Given the description of an element on the screen output the (x, y) to click on. 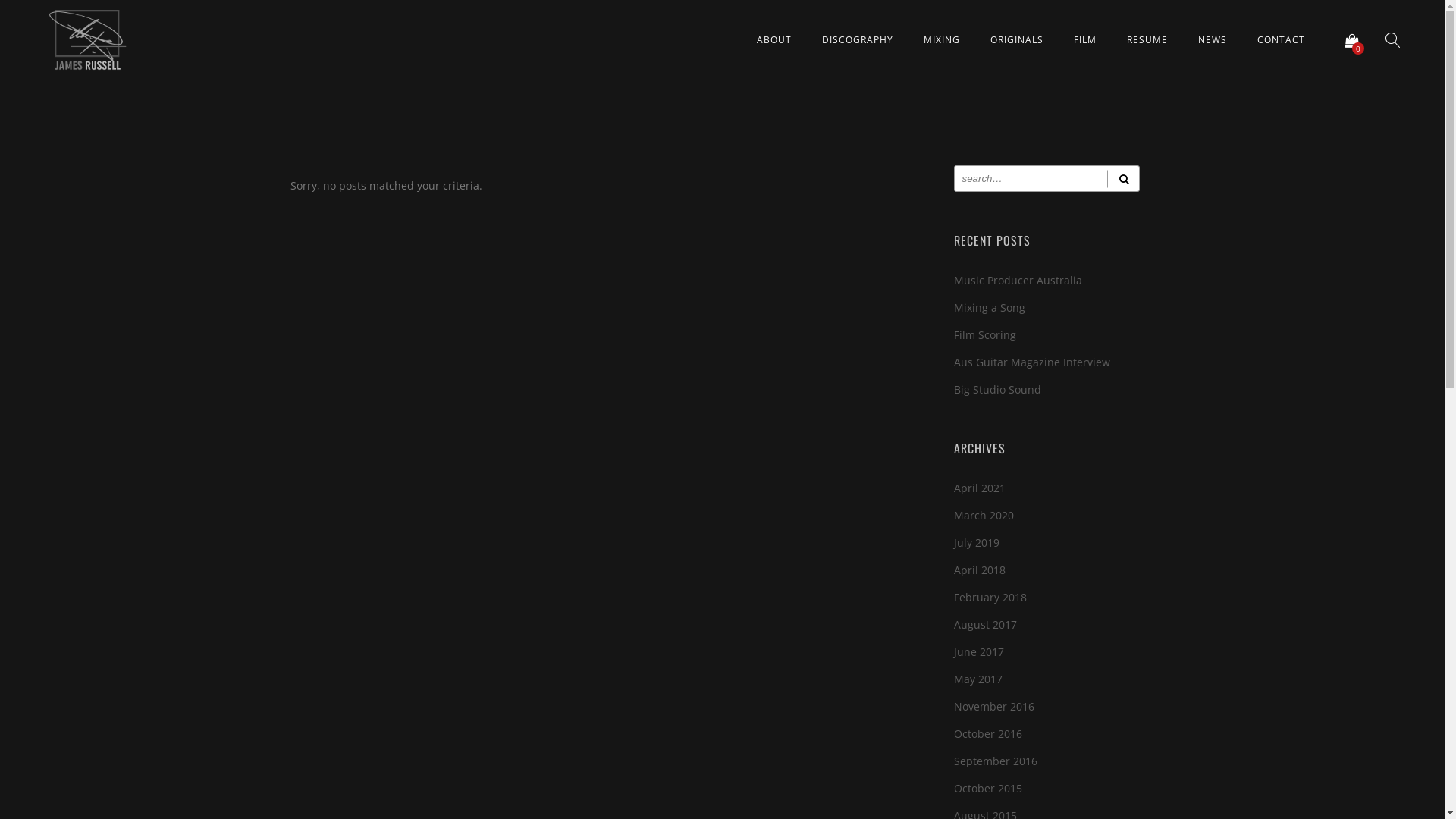
NEWS Element type: text (1212, 39)
ORIGINALS Element type: text (1016, 39)
RESUME Element type: text (1147, 39)
September 2016 Element type: text (995, 760)
MIXING Element type: text (941, 39)
Music Producer Australia Element type: text (1017, 280)
April 2021 Element type: text (979, 487)
CONTACT Element type: text (1280, 39)
ABOUT Element type: text (774, 39)
June 2017 Element type: text (978, 651)
Search Element type: hover (1123, 178)
July 2019 Element type: text (976, 542)
Aus Guitar Magazine Interview Element type: text (1031, 361)
February 2018 Element type: text (989, 596)
DISCOGRAPHY Element type: text (857, 39)
October 2015 Element type: text (987, 788)
November 2016 Element type: text (993, 706)
October 2016 Element type: text (987, 733)
FILM Element type: text (1085, 39)
April 2018 Element type: text (979, 569)
March 2020 Element type: text (983, 515)
0 Element type: text (1351, 40)
Film Scoring Element type: text (984, 334)
Big Studio Sound Element type: text (997, 389)
Mixing a Song Element type: text (989, 307)
May 2017 Element type: text (977, 678)
August 2017 Element type: text (984, 624)
